Given the description of an element on the screen output the (x, y) to click on. 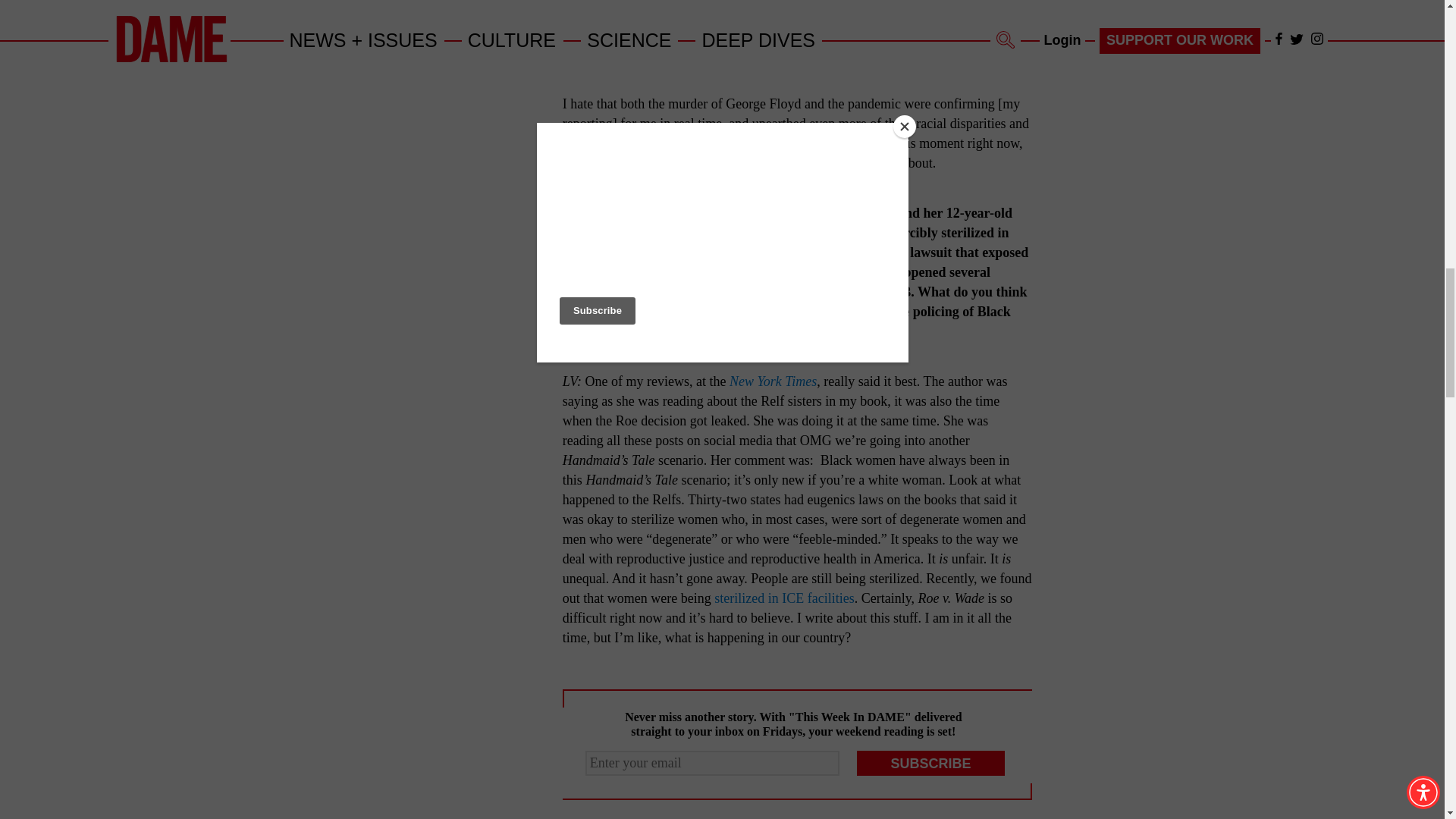
Subscribe (931, 763)
